Given the description of an element on the screen output the (x, y) to click on. 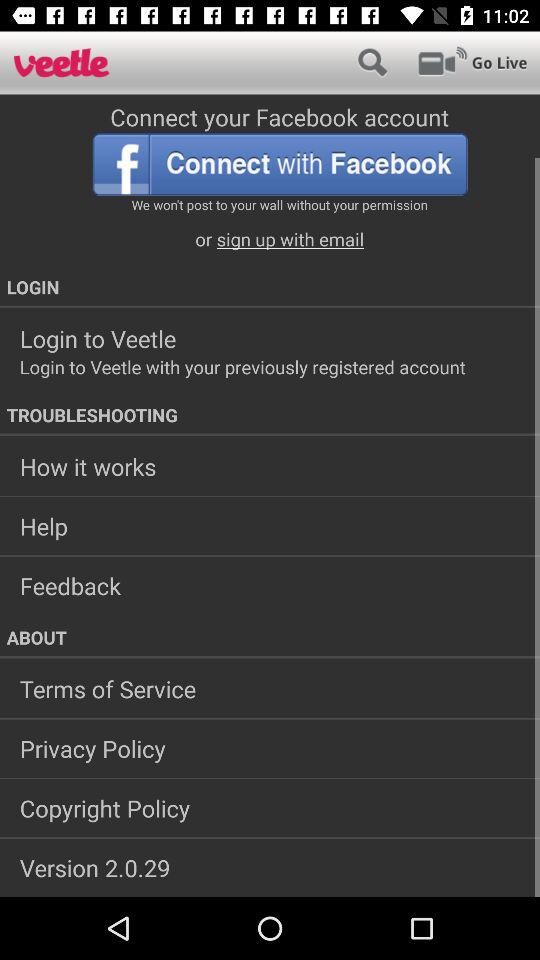
click icon at the top left corner (61, 62)
